Given the description of an element on the screen output the (x, y) to click on. 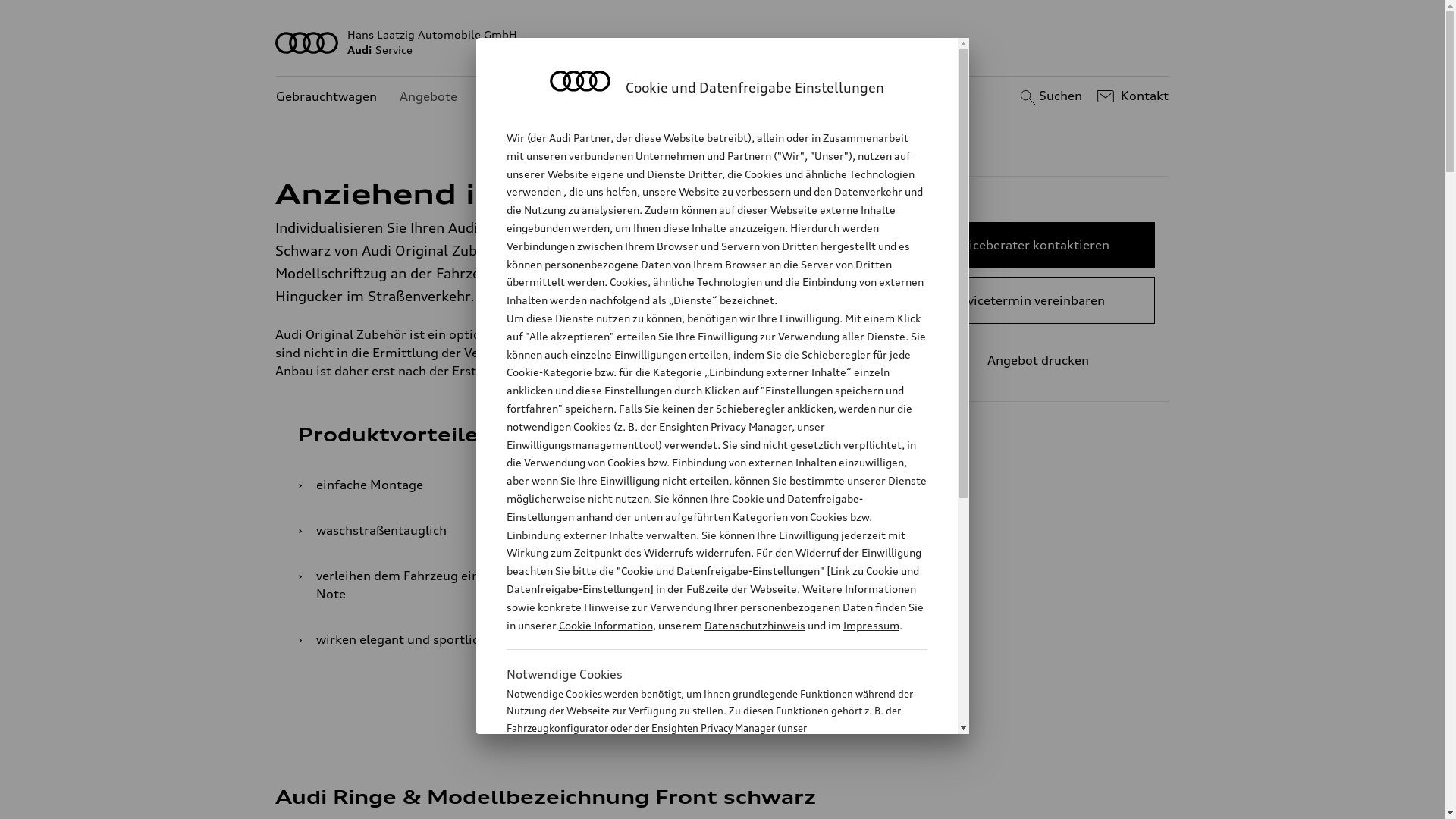
Serviceberater kontaktieren Element type: text (1025, 244)
Gebrauchtwagen Element type: text (326, 96)
Datenschutzhinweis Element type: text (753, 624)
Servicetermin vereinbaren Element type: text (1025, 299)
Kundenservice Element type: text (523, 96)
Cookie Information Element type: text (605, 624)
Impressum Element type: text (871, 624)
Kontakt Element type: text (1130, 96)
Angebot drucken Element type: text (1026, 360)
Suchen Element type: text (1049, 96)
Hans Laatzig Automobile GmbH
AudiService Element type: text (722, 42)
Audi Partner Element type: text (579, 137)
Cookie Information Element type: text (700, 802)
Angebote Element type: text (428, 96)
